Given the description of an element on the screen output the (x, y) to click on. 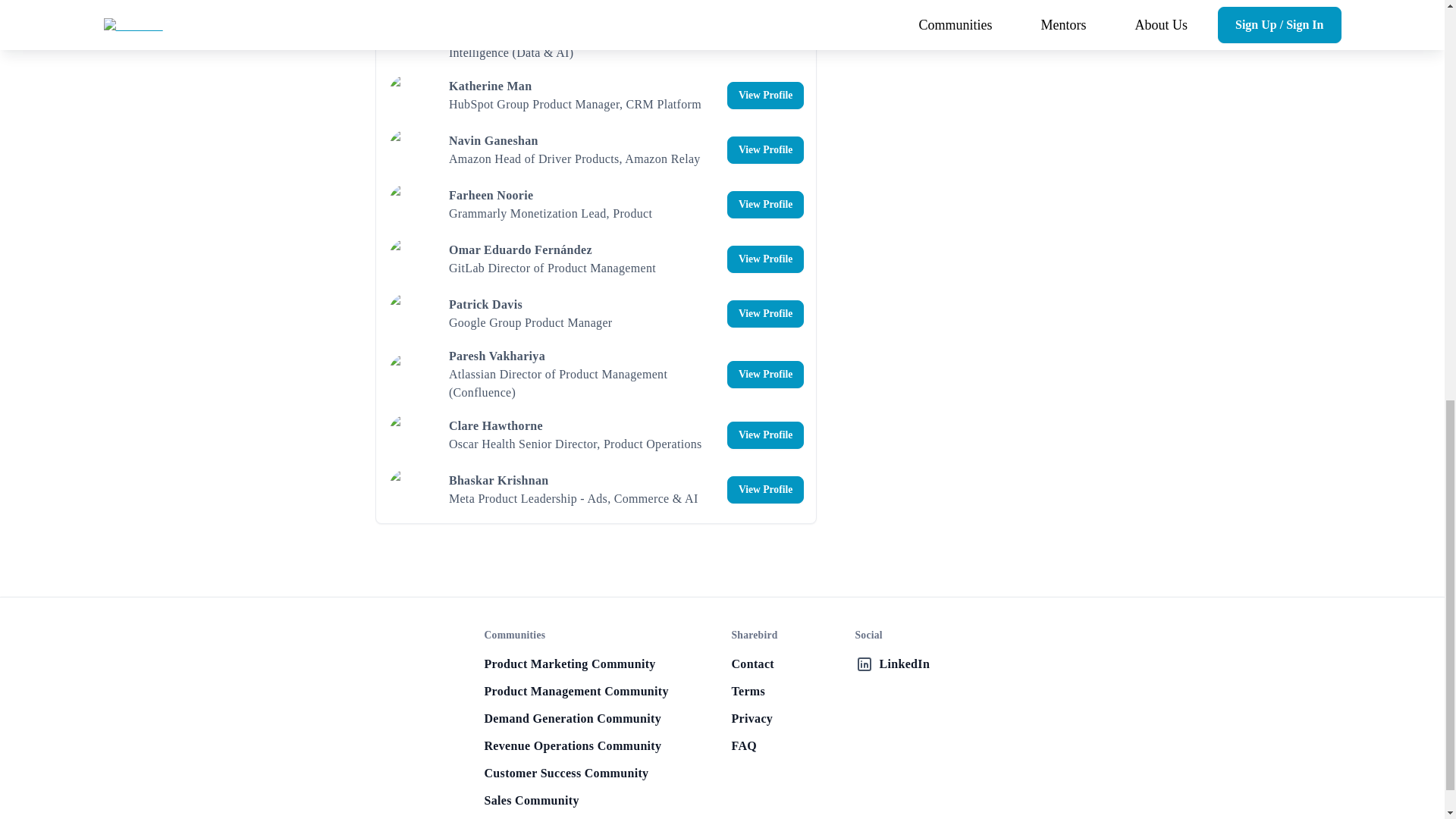
View Profile (764, 258)
View Profile (764, 149)
View Profile (764, 204)
View Profile (764, 34)
View Profile (764, 313)
View Profile (764, 374)
View Profile (764, 489)
View Profile (764, 94)
View Profile (764, 434)
